Given the description of an element on the screen output the (x, y) to click on. 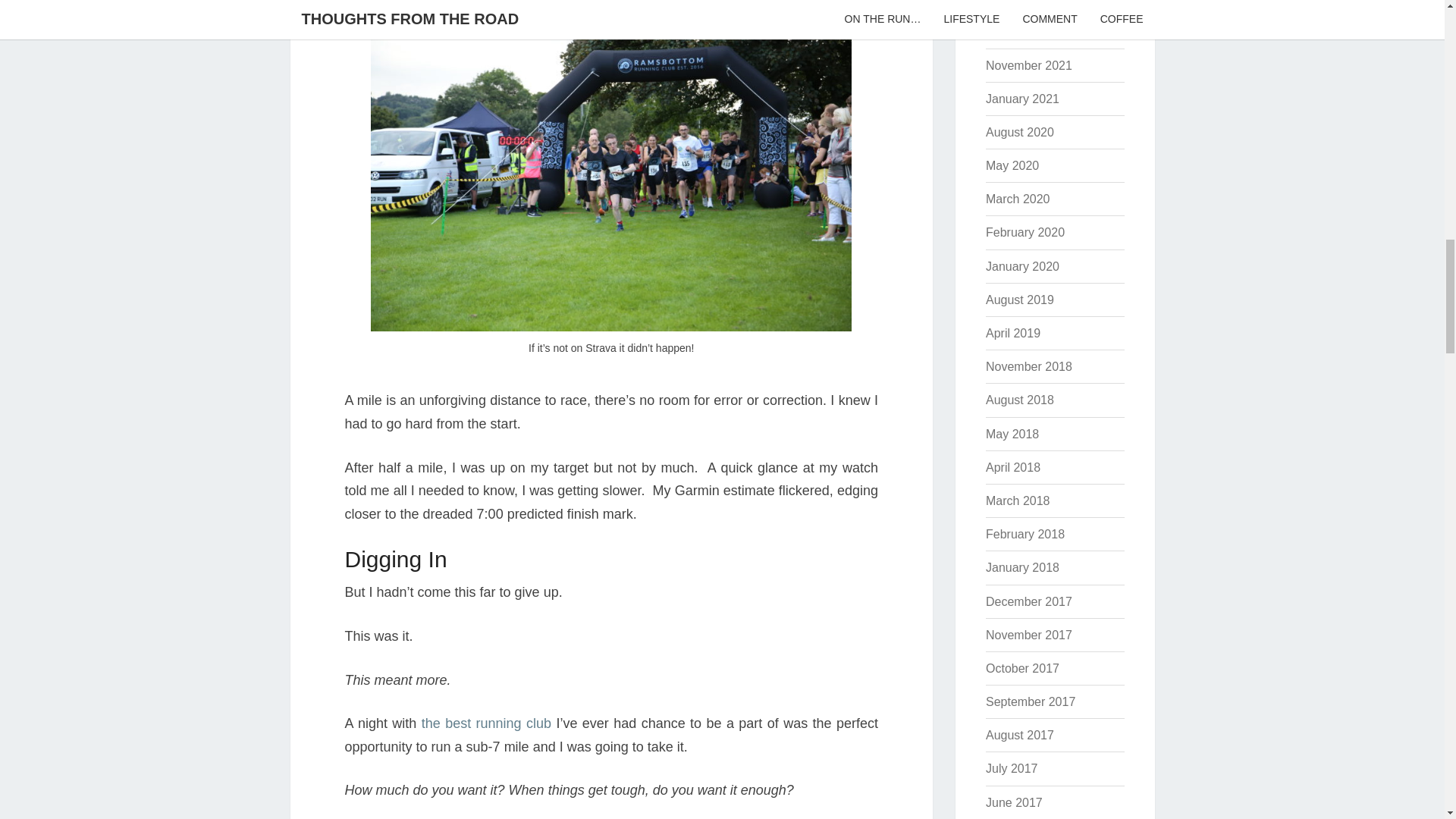
the best running club (486, 723)
August 2020 (1019, 132)
May 2020 (1012, 164)
October 2022 (1022, 31)
March 2020 (1017, 198)
November 2021 (1028, 65)
November 2022 (1028, 2)
January 2021 (1022, 98)
